Given the description of an element on the screen output the (x, y) to click on. 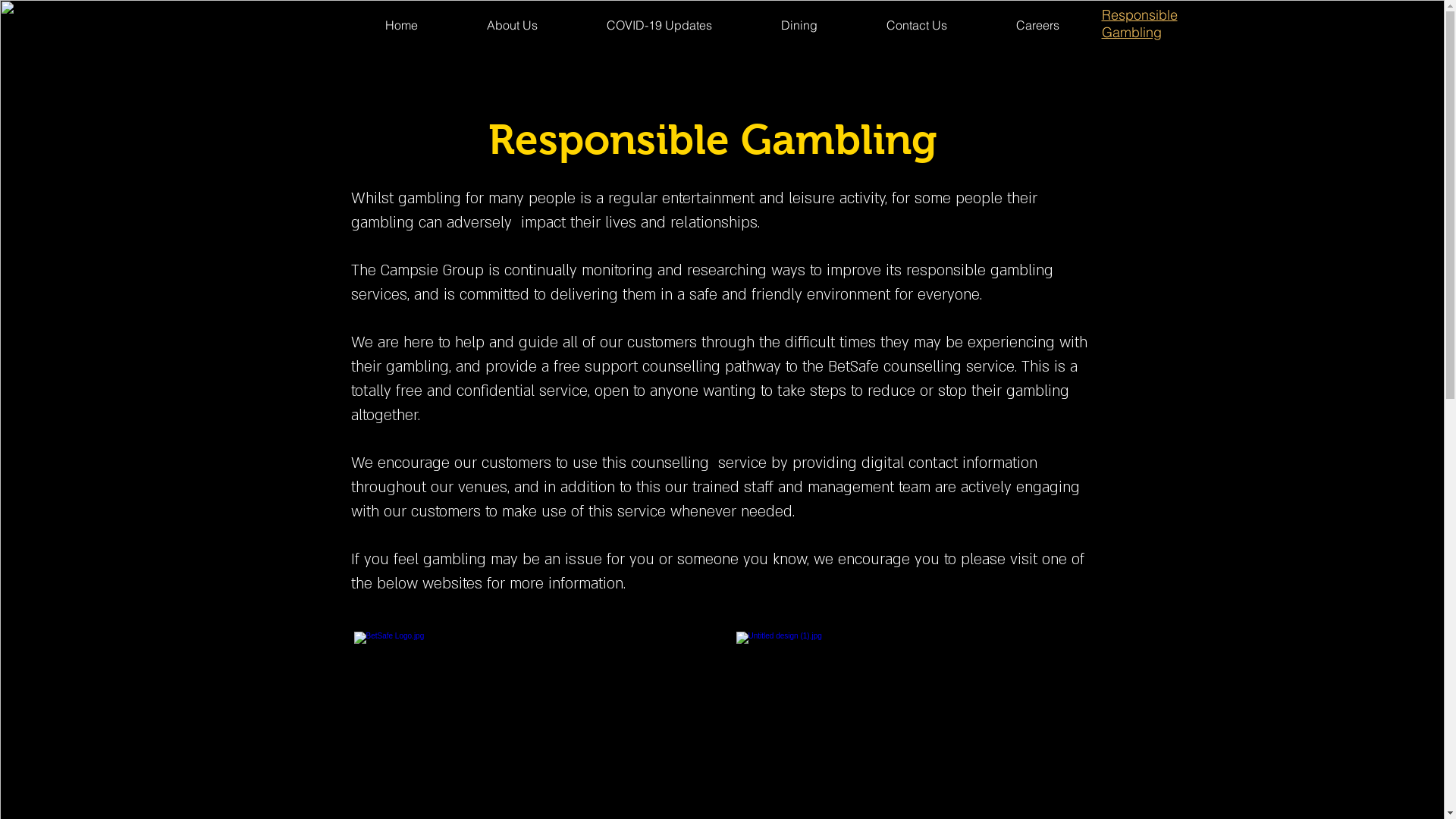
About Us Element type: text (511, 24)
Home Element type: text (400, 24)
Dining Element type: text (798, 24)
Careers Element type: text (1037, 24)
Gambling Element type: text (1131, 31)
COVID-19 Updates Element type: text (658, 24)
Contact Us Element type: text (917, 24)
Responsible Element type: text (1138, 14)
